Given the description of an element on the screen output the (x, y) to click on. 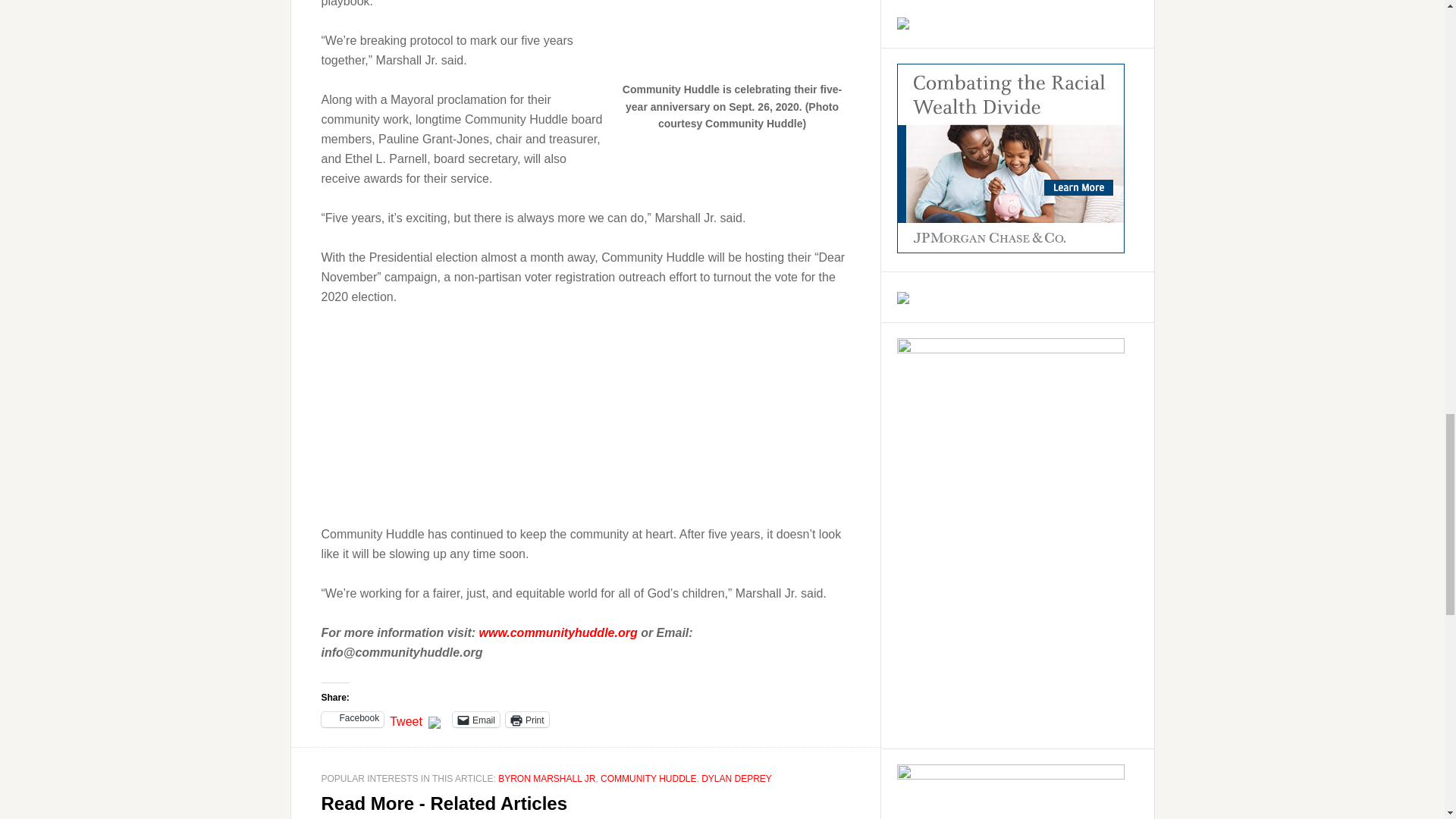
Print (526, 719)
Click to share on Facebook (352, 719)
COMMUNITY HUDDLE (647, 778)
Click to print (526, 719)
BYRON MARSHALL JR (546, 778)
Tweet (406, 718)
Facebook (352, 719)
DYLAN DEPREY (736, 778)
Click to email a link to a friend (475, 719)
Email (475, 719)
www.communityhuddle.org (558, 632)
